Given the description of an element on the screen output the (x, y) to click on. 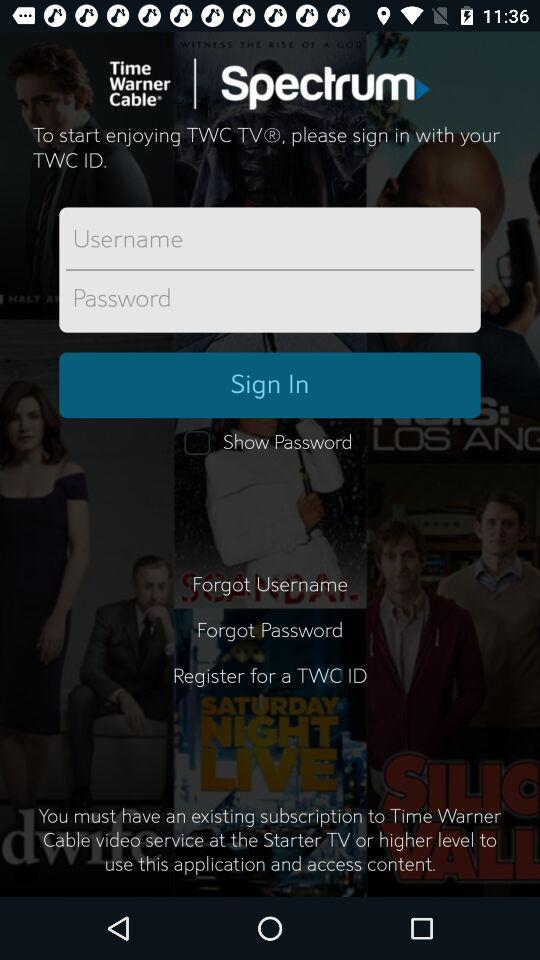
turn on the item above register for a item (270, 630)
